Given the description of an element on the screen output the (x, y) to click on. 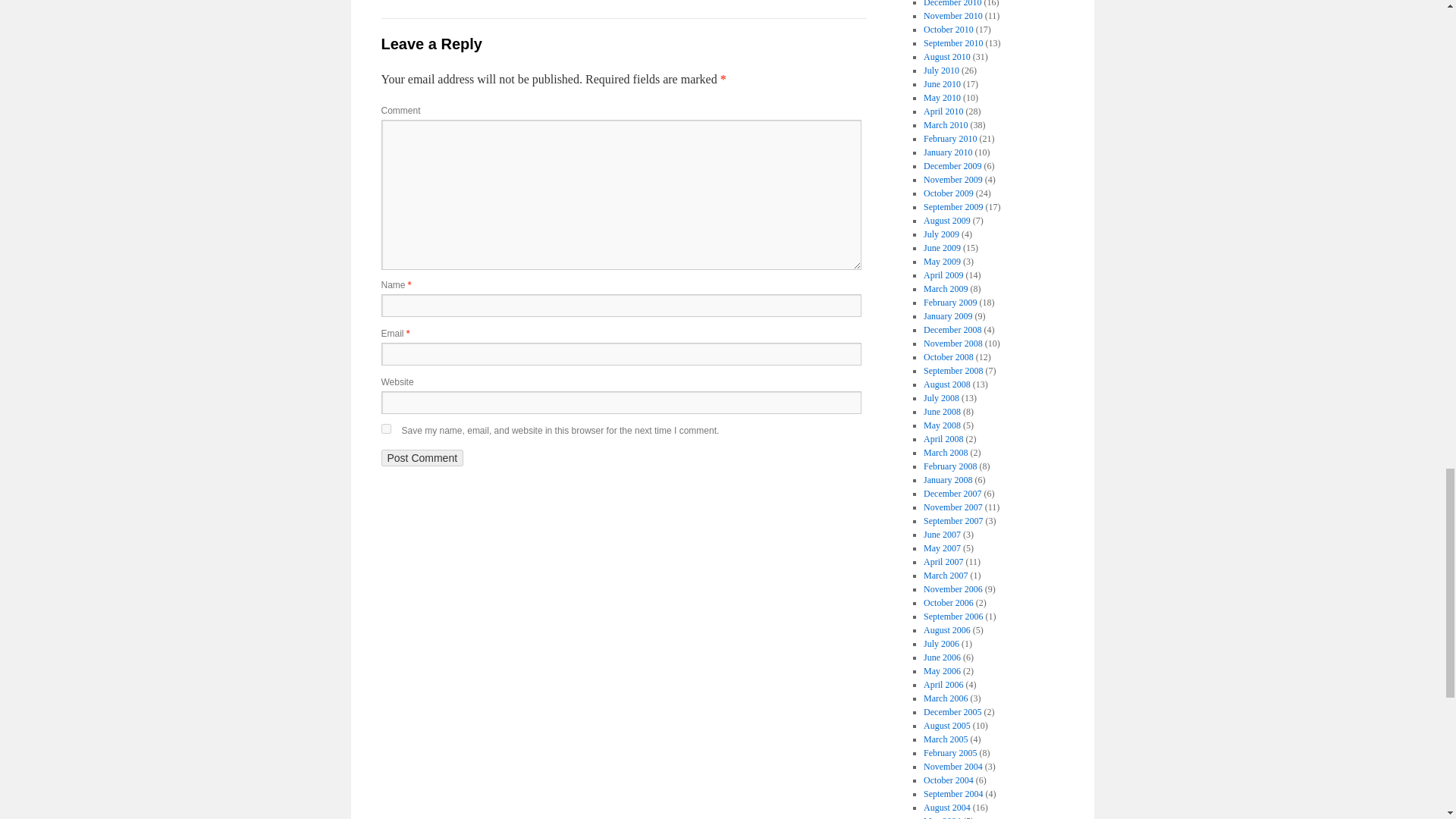
Post Comment (421, 457)
Post Comment (421, 457)
yes (385, 429)
